Given the description of an element on the screen output the (x, y) to click on. 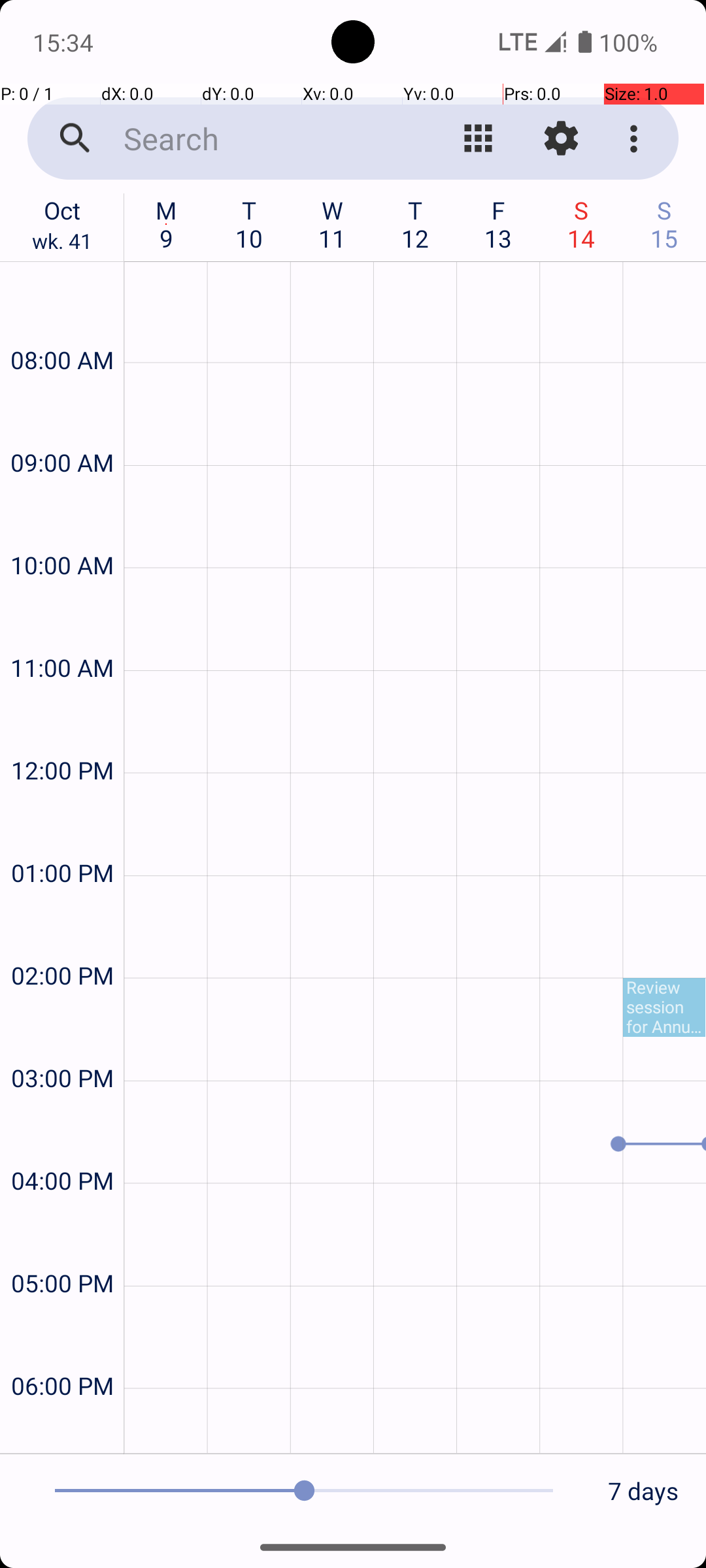
08:00 AM Element type: android.widget.TextView (62, 324)
09:00 AM Element type: android.widget.TextView (62, 427)
10:00 AM Element type: android.widget.TextView (62, 529)
11:00 AM Element type: android.widget.TextView (62, 632)
12:00 PM Element type: android.widget.TextView (62, 735)
01:00 PM Element type: android.widget.TextView (62, 837)
02:00 PM Element type: android.widget.TextView (62, 940)
03:00 PM Element type: android.widget.TextView (62, 1042)
04:00 PM Element type: android.widget.TextView (62, 1145)
05:00 PM Element type: android.widget.TextView (62, 1247)
06:00 PM Element type: android.widget.TextView (62, 1350)
07:00 PM Element type: android.widget.TextView (62, 1428)
